Given the description of an element on the screen output the (x, y) to click on. 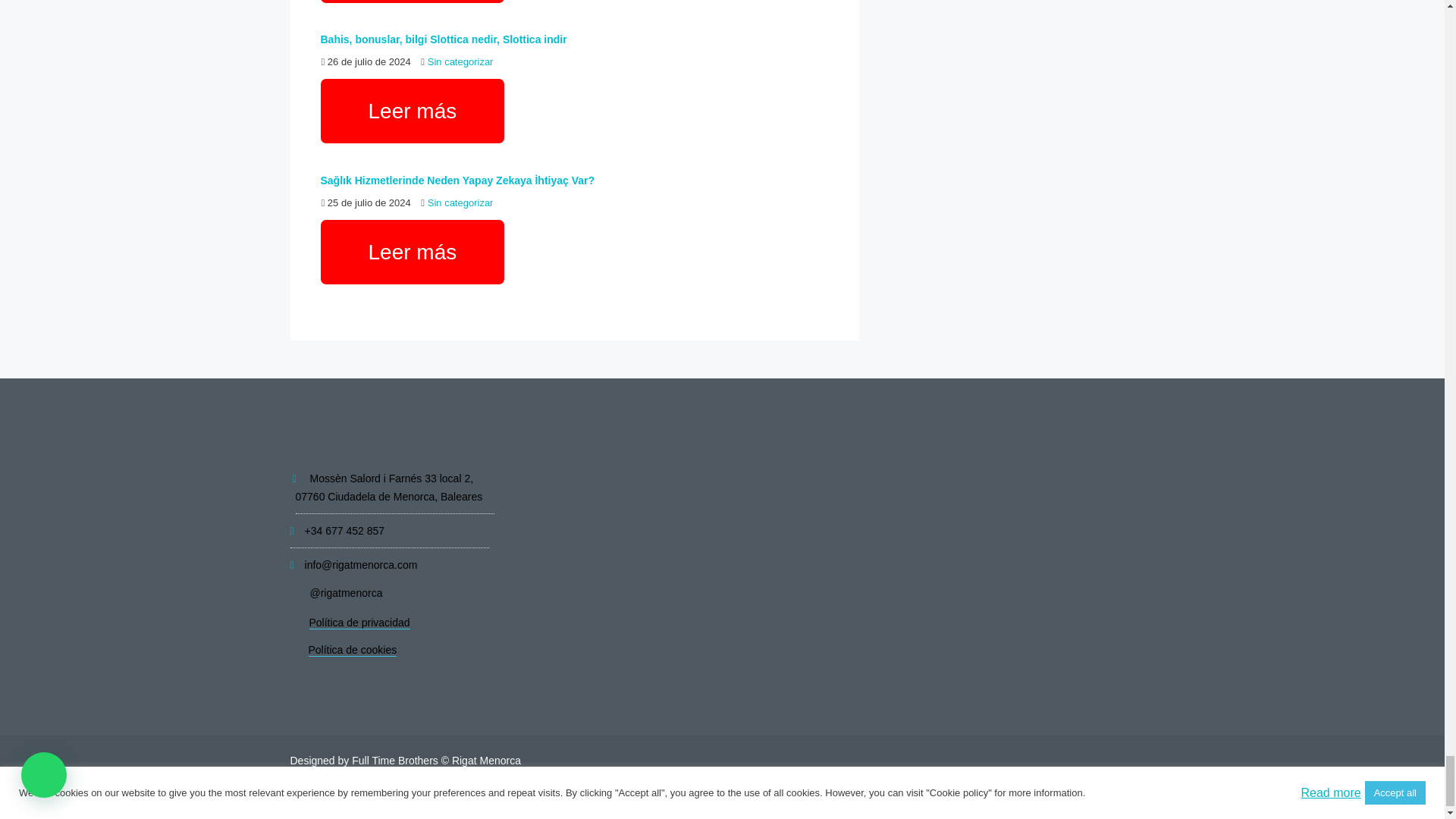
Sin categorizar (460, 61)
Sin categorizar (460, 202)
